Given the description of an element on the screen output the (x, y) to click on. 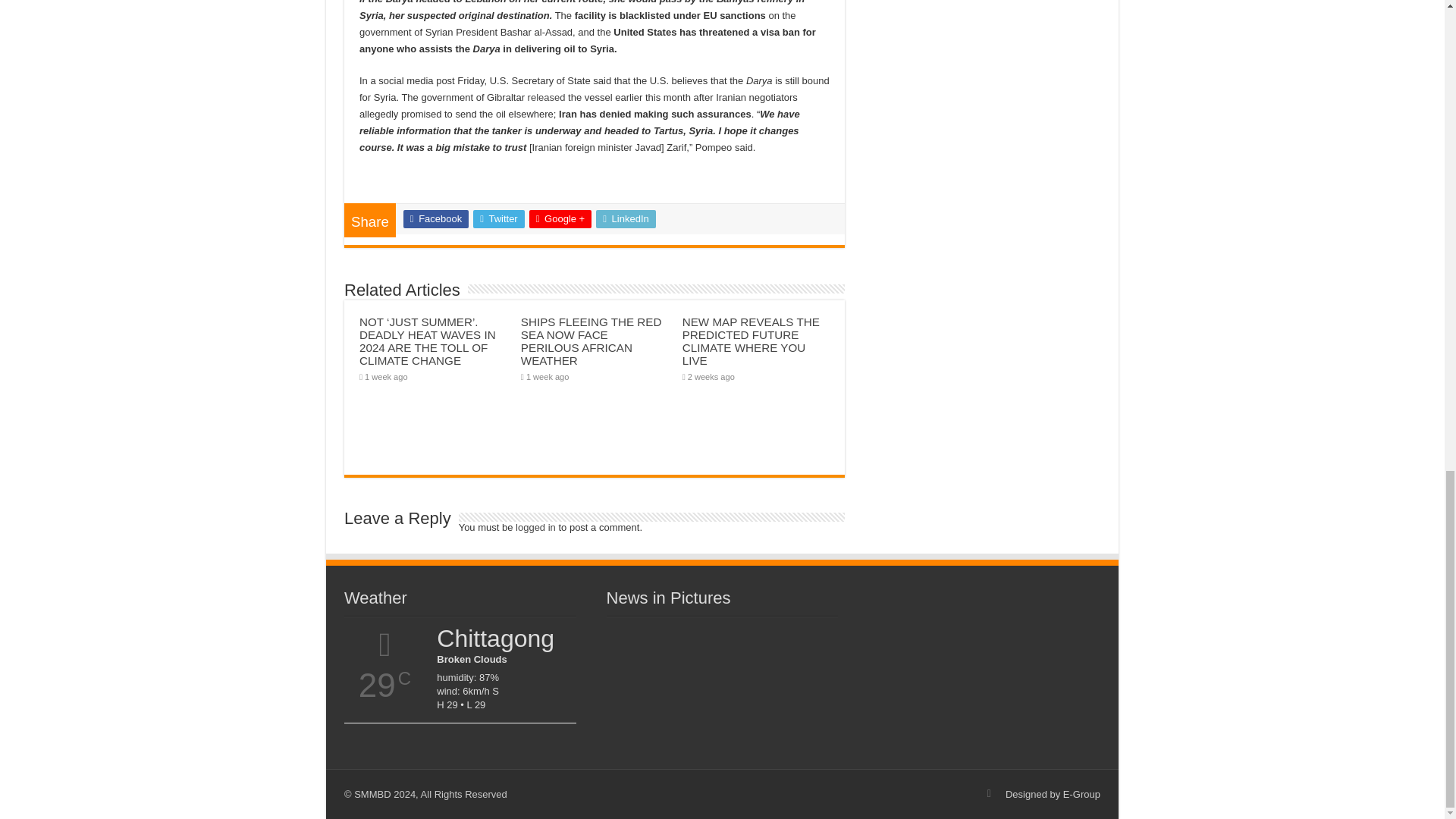
Twitter (498, 218)
NEW MAP REVEALS THE PREDICTED FUTURE CLIMATE WHERE YOU LIVE (750, 340)
Facebook (435, 218)
logged in (535, 527)
SHIPS FLEEING THE RED SEA NOW FACE PERILOUS AFRICAN WEATHER (591, 340)
LinkedIn (625, 218)
released (546, 97)
